Given the description of an element on the screen output the (x, y) to click on. 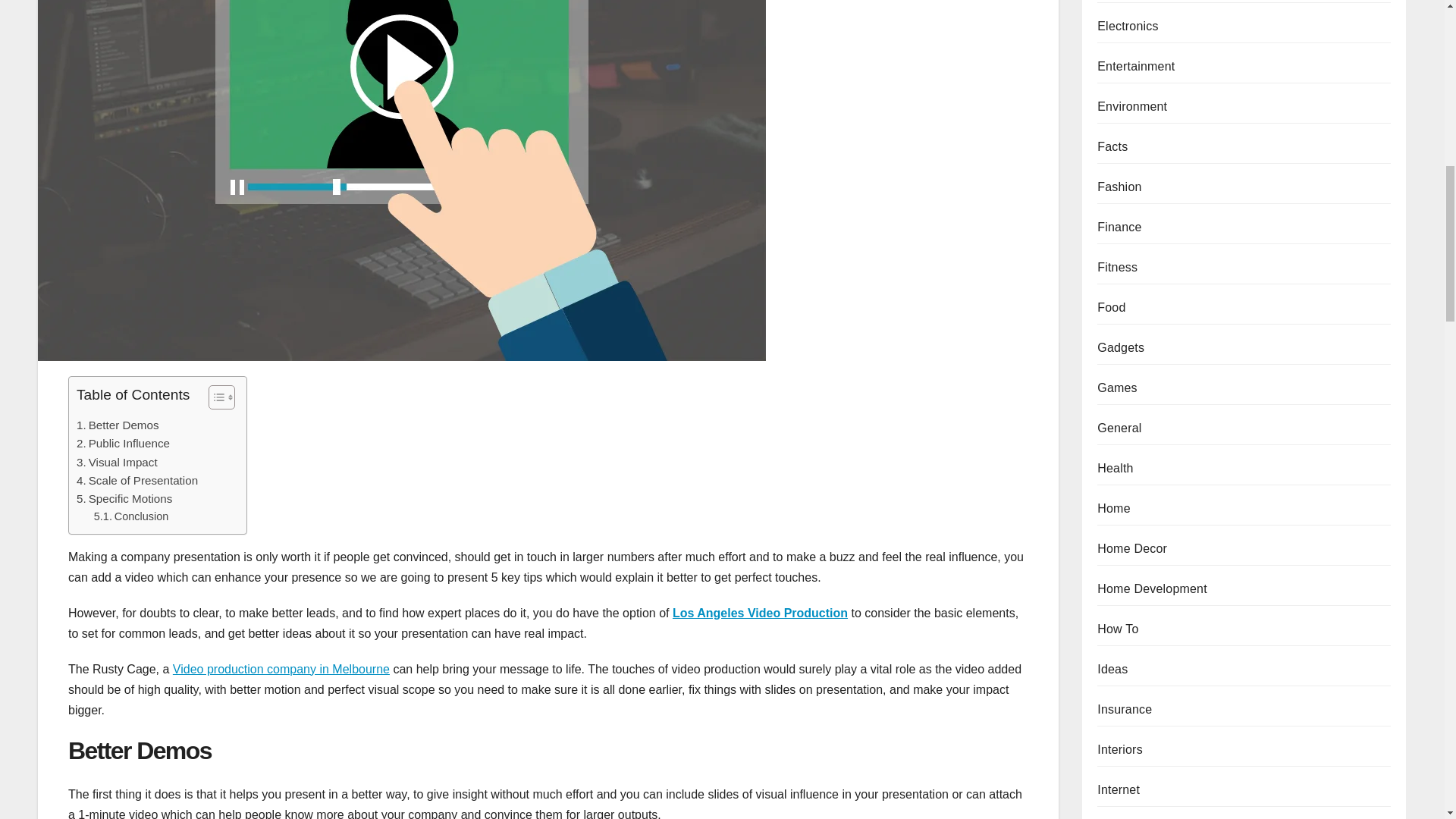
Conclusion (131, 516)
Better Demos  (119, 425)
Public Influence  (125, 443)
Visual Impact  (118, 462)
Specific Motions  (126, 498)
Los Angeles Video Production (759, 612)
Scale of Presentation  (138, 480)
Video production company in Melbourne (281, 668)
Conclusion (131, 516)
